Given the description of an element on the screen output the (x, y) to click on. 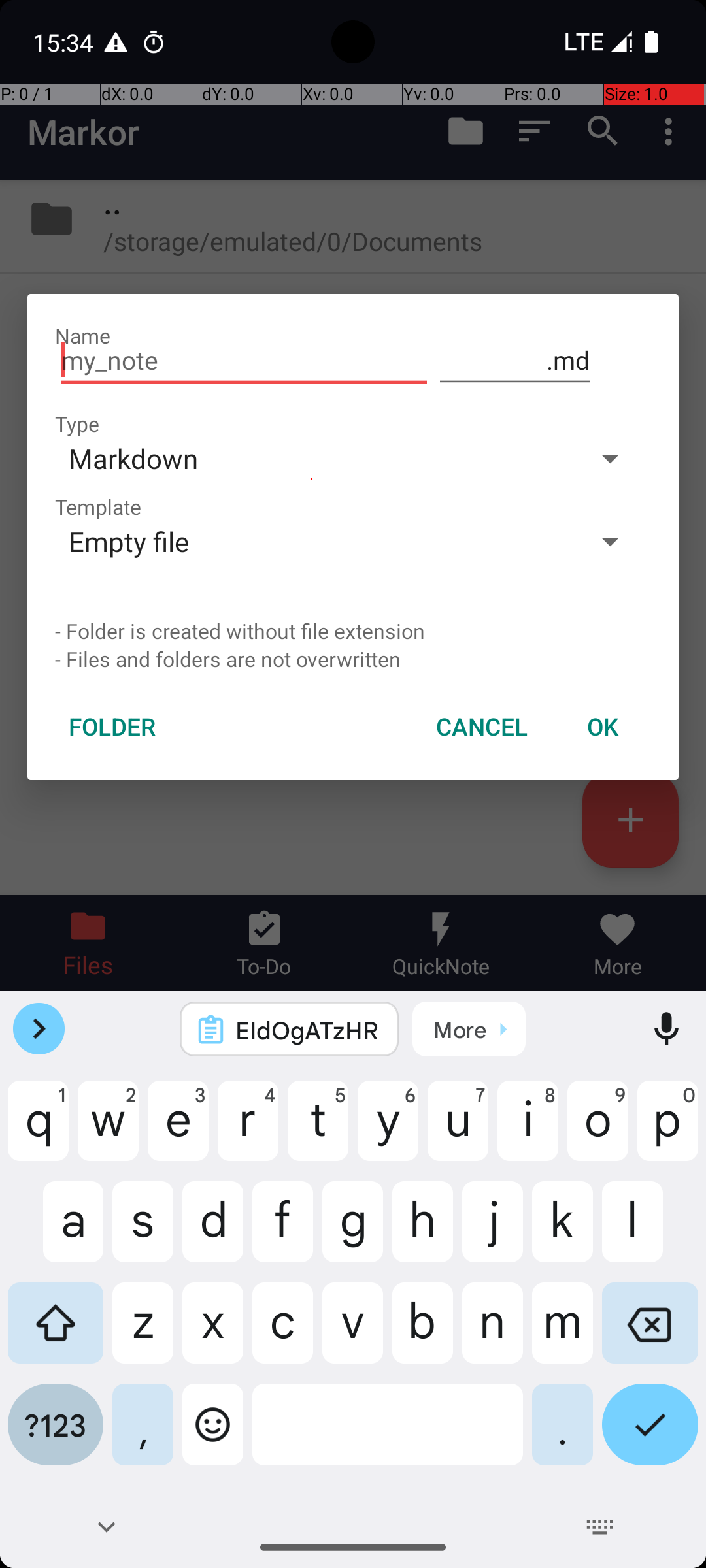
my_note Element type: android.widget.EditText (243, 360)
.md Element type: android.widget.EditText (514, 360)
Type Element type: android.widget.TextView (76, 423)
Template Element type: android.widget.TextView (97, 506)
- Folder is created without file extension Element type: android.widget.TextView (352, 630)
- Files and folders are not overwritten Element type: android.widget.TextView (352, 658)
FOLDER Element type: android.widget.Button (111, 726)
Empty file Element type: android.widget.TextView (311, 540)
EIdOgATzHR Element type: android.widget.TextView (306, 1029)
